Given the description of an element on the screen output the (x, y) to click on. 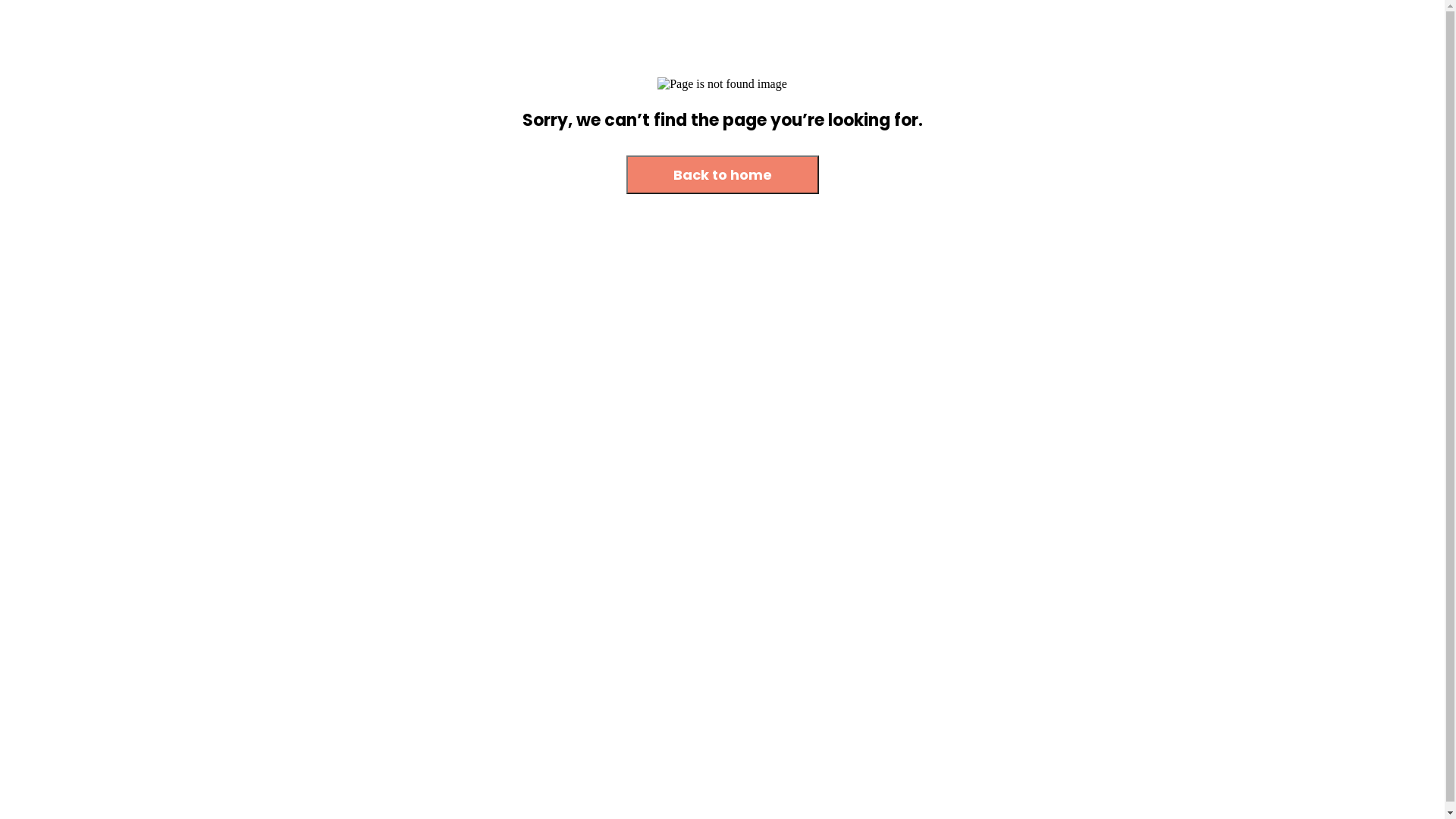
Back to home Element type: text (722, 175)
Back to home Element type: text (722, 174)
